Given the description of an element on the screen output the (x, y) to click on. 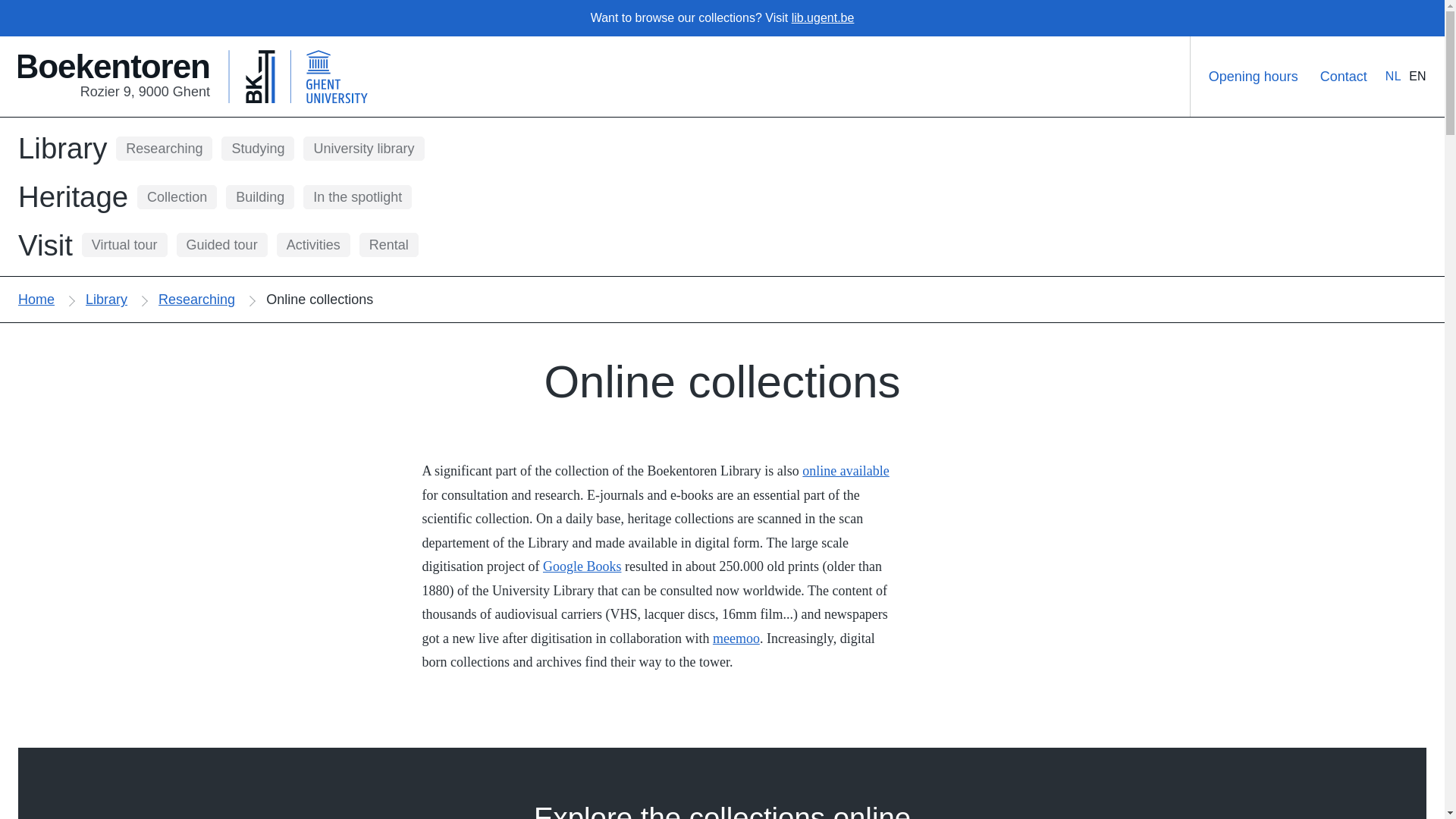
EN (1417, 75)
Google Books (582, 566)
Heritage (199, 76)
Building (72, 197)
NL (259, 197)
In the spotlight (1393, 75)
Collection (357, 197)
Rental (176, 197)
Visit (389, 244)
